Given the description of an element on the screen output the (x, y) to click on. 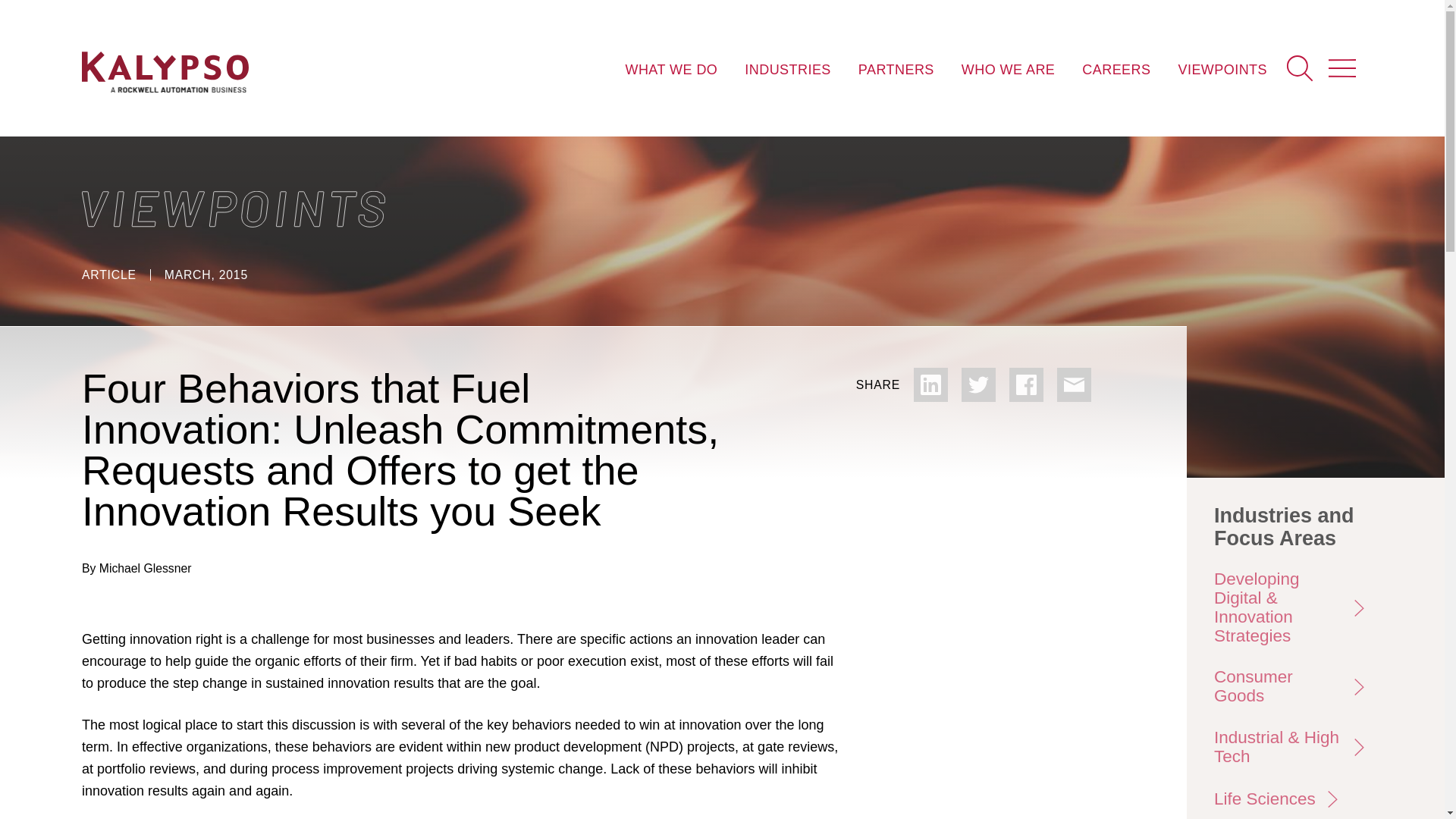
INDUSTRIES (787, 69)
Return to Kalypso home page (164, 74)
WHAT WE DO (670, 69)
Go to What We Do (670, 69)
MENU (1342, 67)
SEARCH (1299, 67)
